Given the description of an element on the screen output the (x, y) to click on. 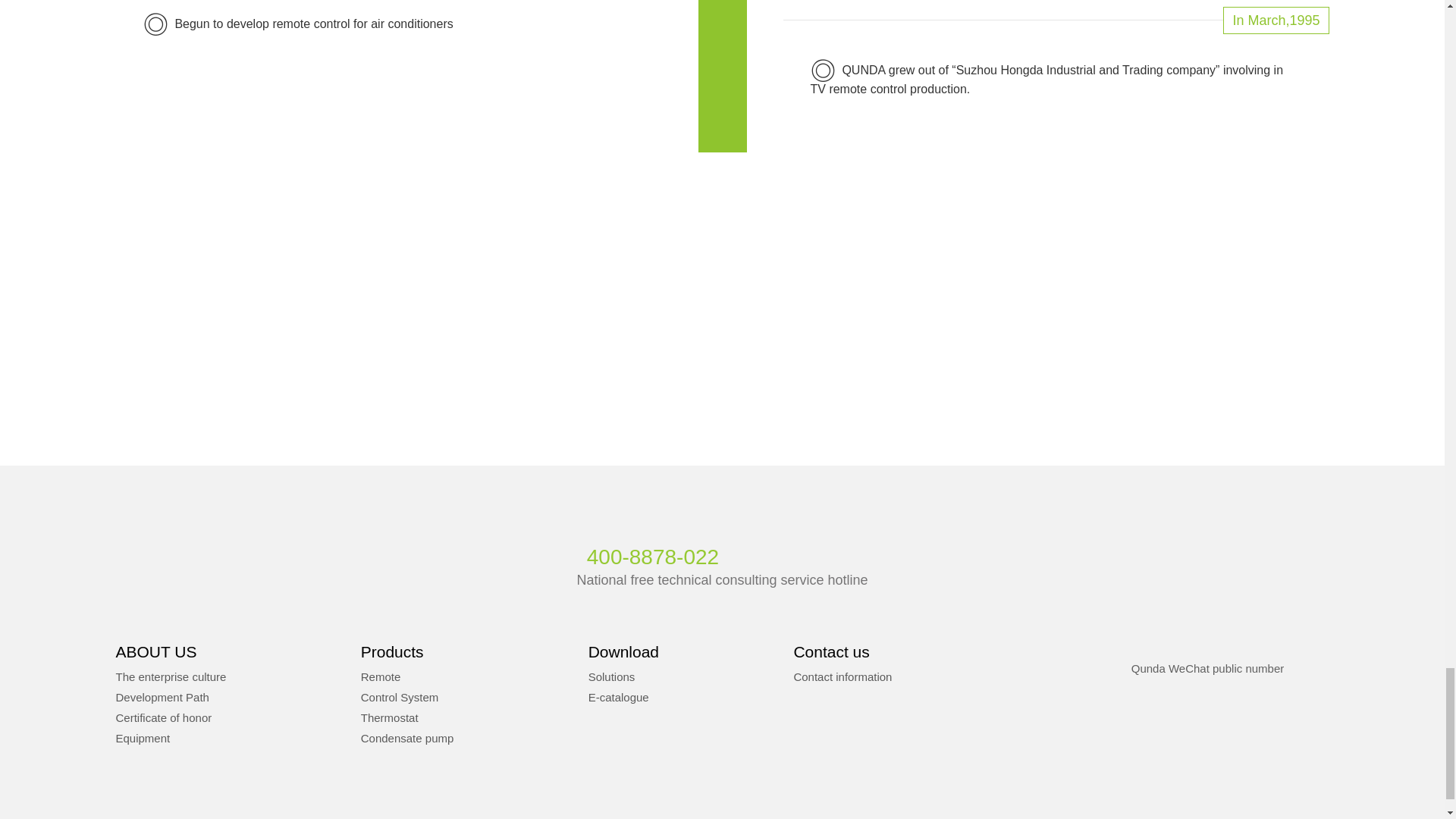
Solutions (611, 676)
Download (623, 651)
Certificate of honor (163, 717)
Thermostat (390, 717)
E-catalogue (618, 697)
ABOUT US (155, 651)
Development Path (161, 697)
Remote (381, 676)
Condensate pump (407, 738)
Contact information (842, 676)
Control System (400, 697)
Contact us (831, 651)
The enterprise culture (170, 676)
Products (392, 651)
Equipment (142, 738)
